Given the description of an element on the screen output the (x, y) to click on. 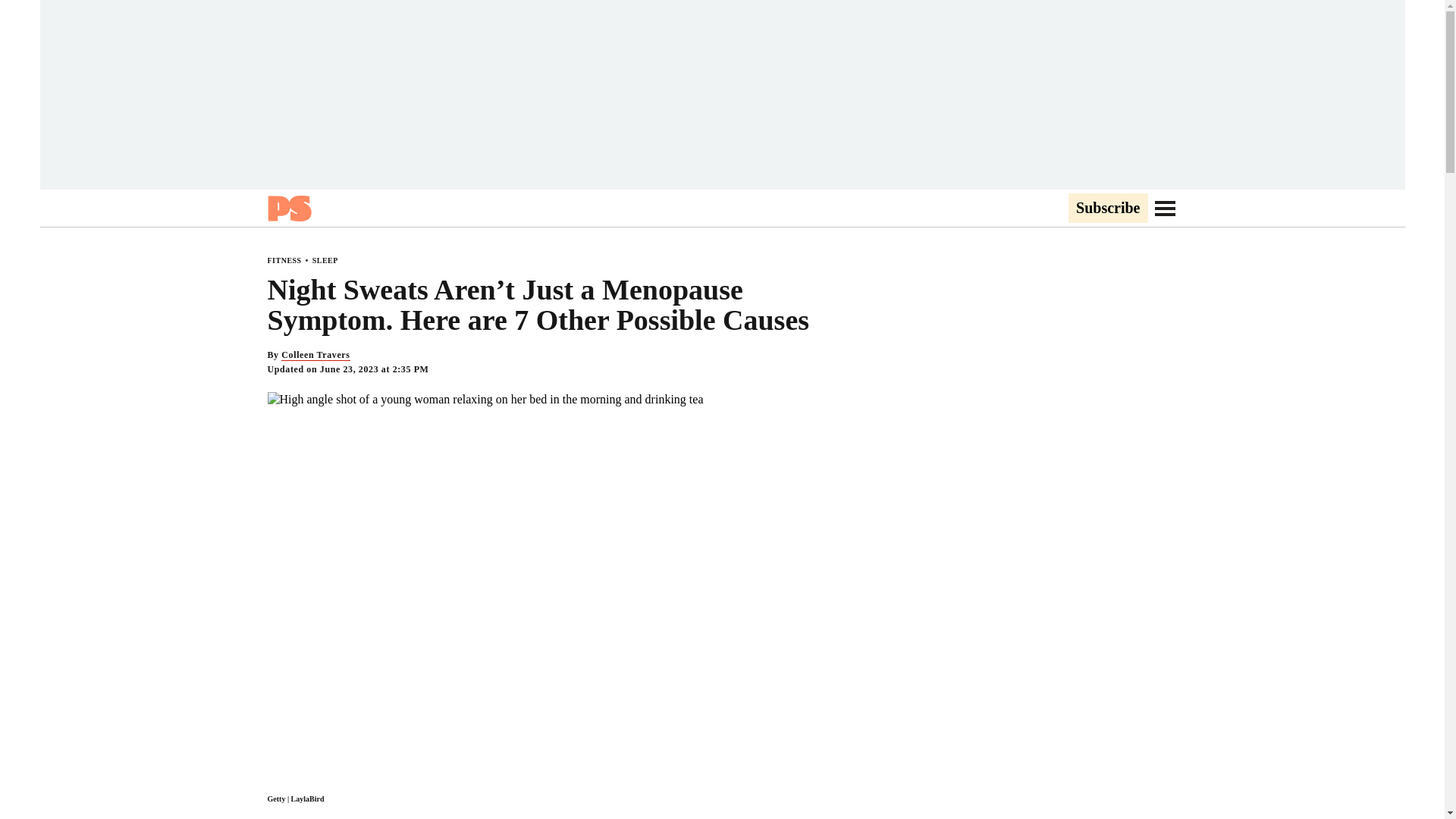
Colleen Travers (315, 355)
SLEEP (325, 260)
Popsugar (288, 208)
Go to Navigation (1164, 207)
FITNESS (283, 260)
Go to Navigation (1164, 207)
Subscribe (1107, 208)
